Given the description of an element on the screen output the (x, y) to click on. 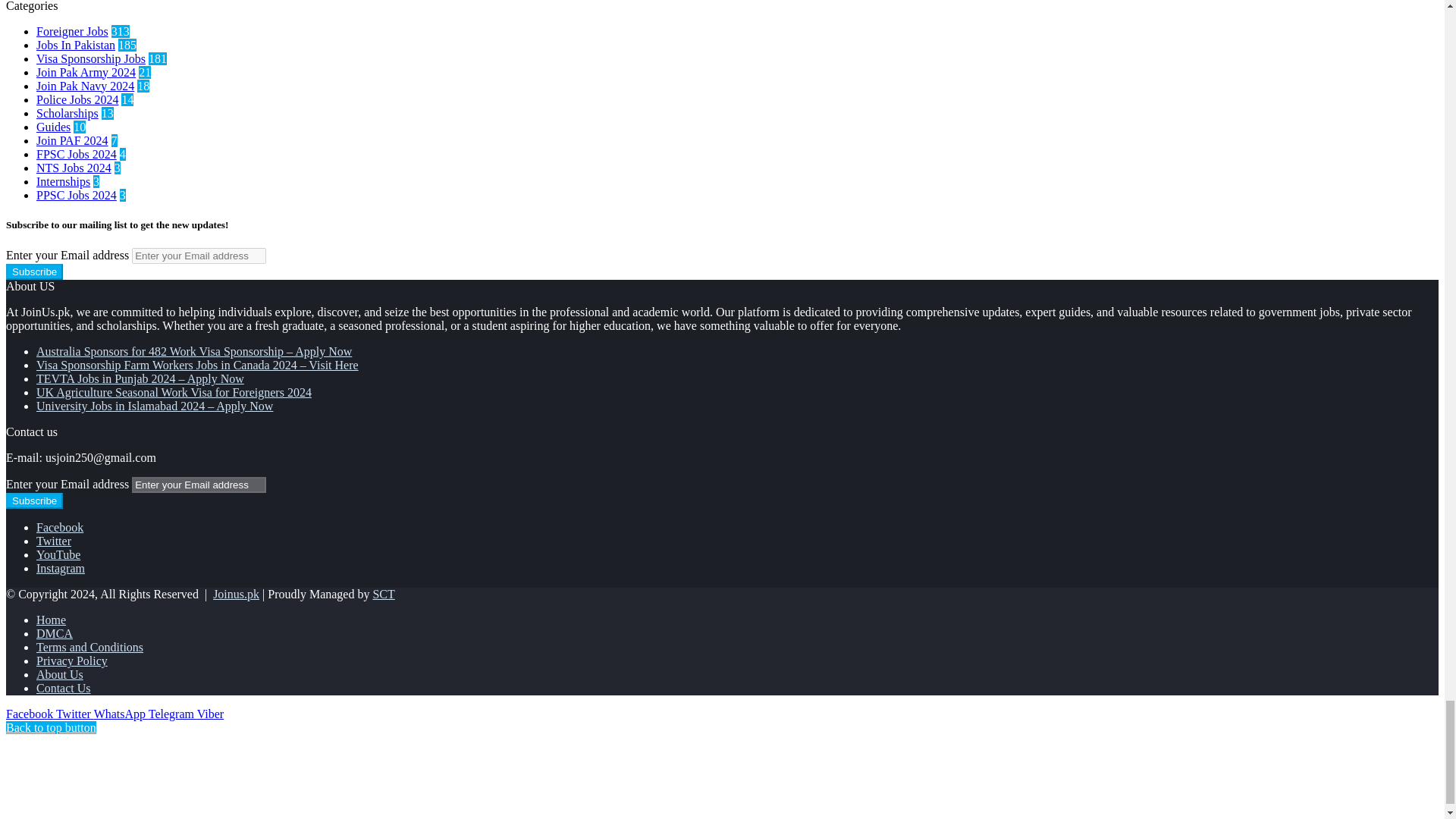
Viber (210, 713)
WhatsApp (121, 713)
Subscribe (33, 271)
Subscribe (33, 500)
Telegram (172, 713)
Facebook (30, 713)
Twitter (75, 713)
